Given the description of an element on the screen output the (x, y) to click on. 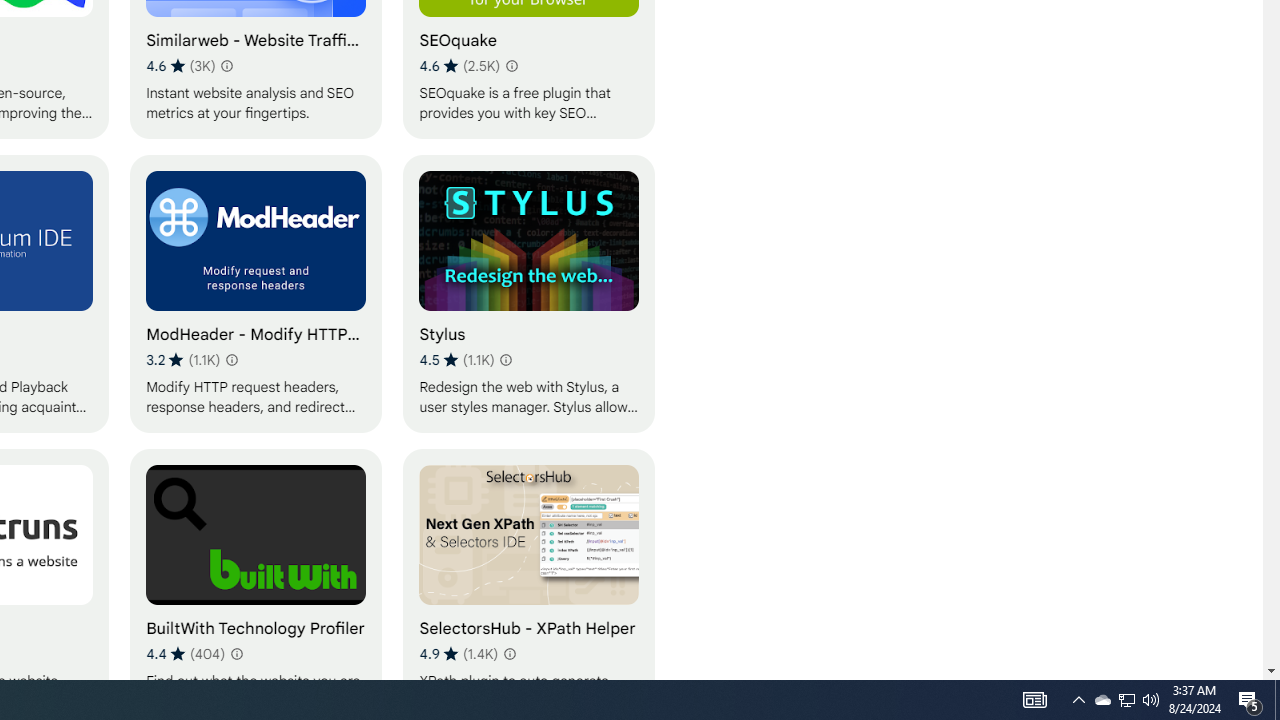
Learn more about results and reviews "SEOquake" (511, 65)
Average rating 4.9 out of 5 stars. 1.4K ratings. (458, 653)
Average rating 4.5 out of 5 stars. 1.1K ratings. (456, 359)
Average rating 4.6 out of 5 stars. 3K ratings. (180, 66)
ModHeader - Modify HTTP headers (256, 293)
Average rating 4.6 out of 5 stars. 2.5K ratings. (459, 66)
Average rating 3.2 out of 5 stars. 1.1K ratings. (183, 359)
Stylus (529, 293)
Learn more about results and reviews "Stylus" (506, 359)
Average rating 4.4 out of 5 stars. 404 ratings. (185, 653)
